Given the description of an element on the screen output the (x, y) to click on. 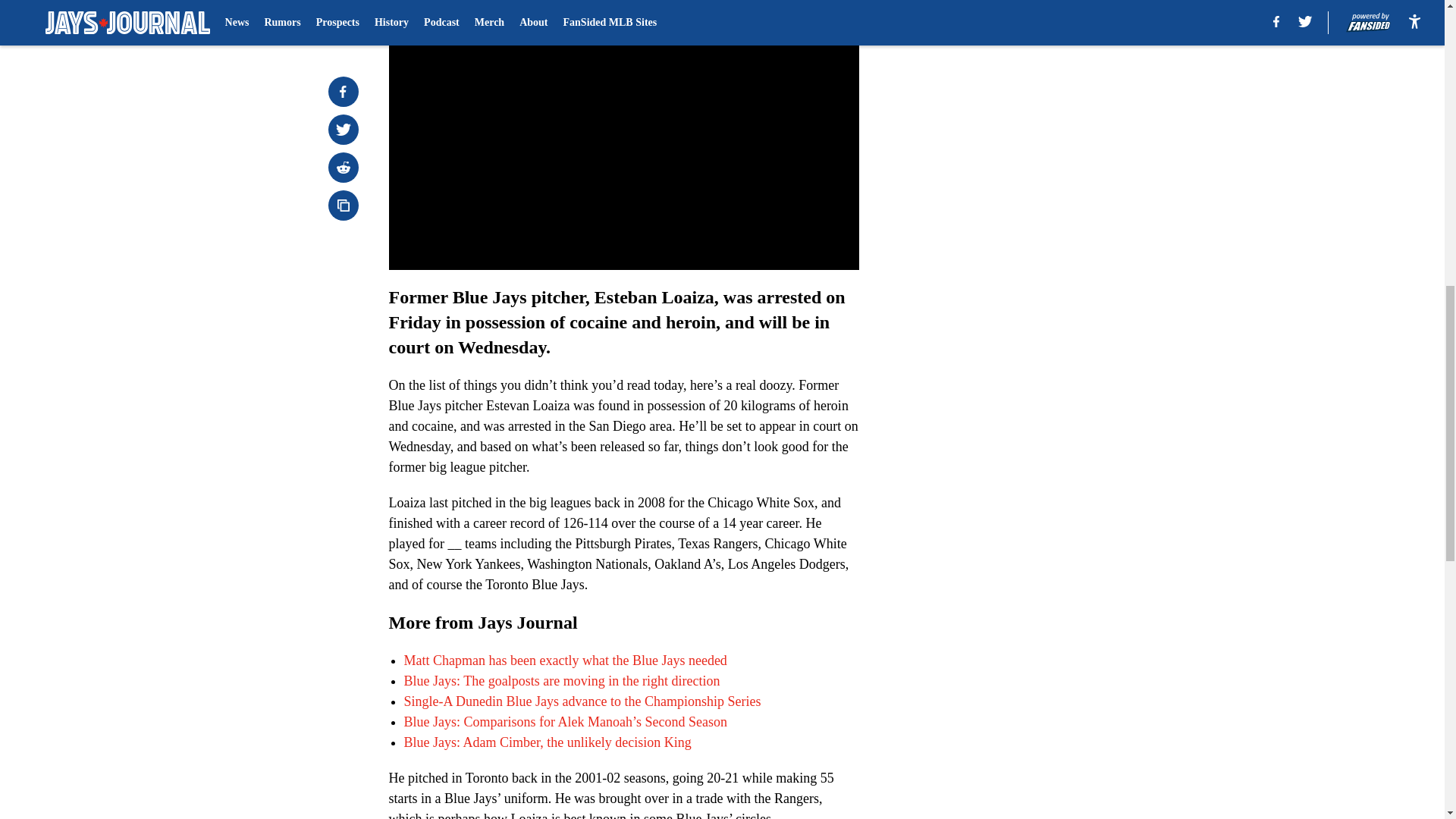
Blue Jays: Adam Cimber, the unlikely decision King (546, 742)
Matt Chapman has been exactly what the Blue Jays needed (564, 660)
Blue Jays: The goalposts are moving in the right direction (561, 680)
